Given the description of an element on the screen output the (x, y) to click on. 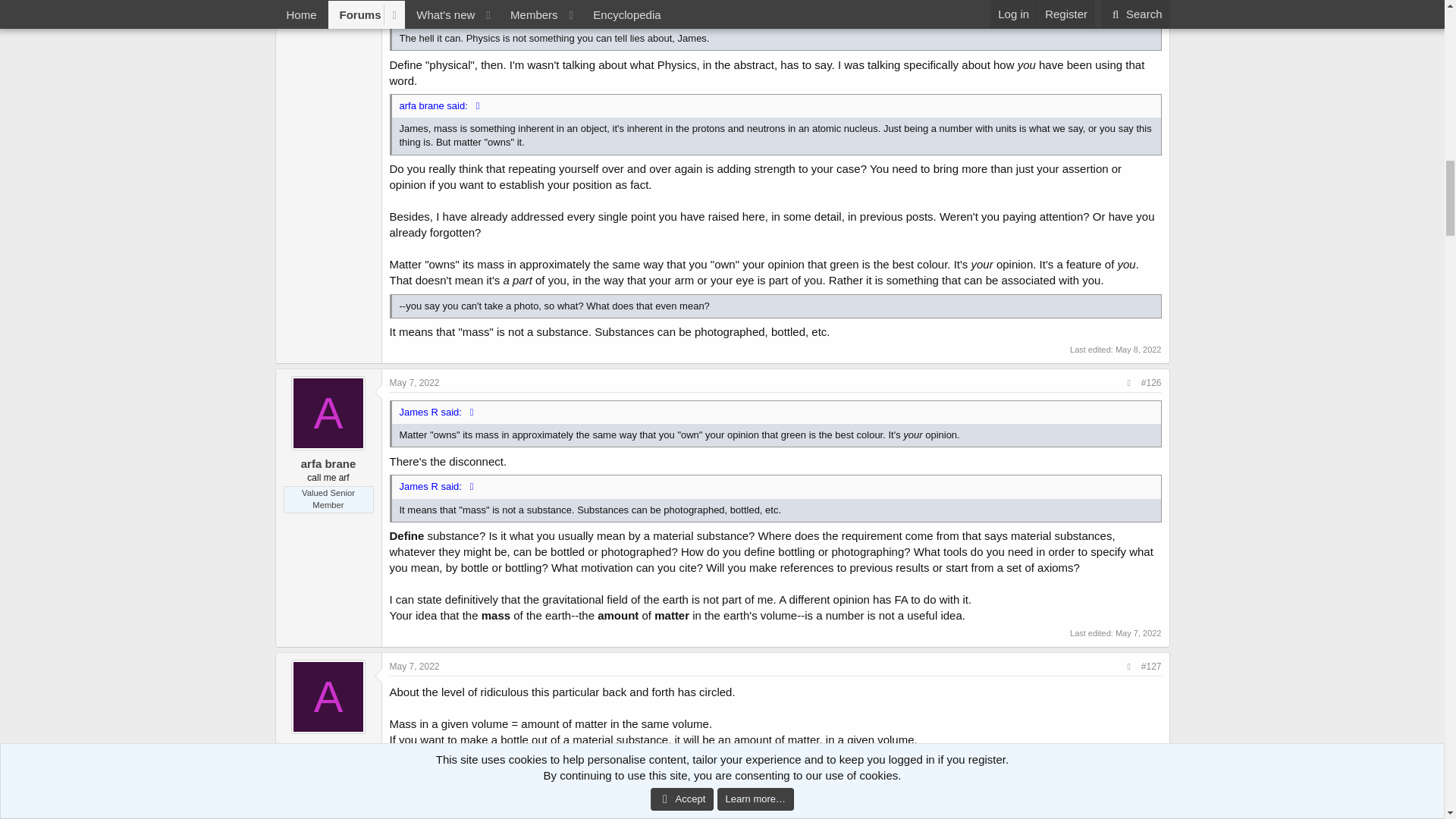
May 7, 2022 at 4:11 PM (1138, 633)
May 8, 2022 at 11:10 AM (1138, 348)
May 7, 2022 at 3:56 PM (414, 382)
May 7, 2022 at 4:39 PM (414, 665)
